Given the description of an element on the screen output the (x, y) to click on. 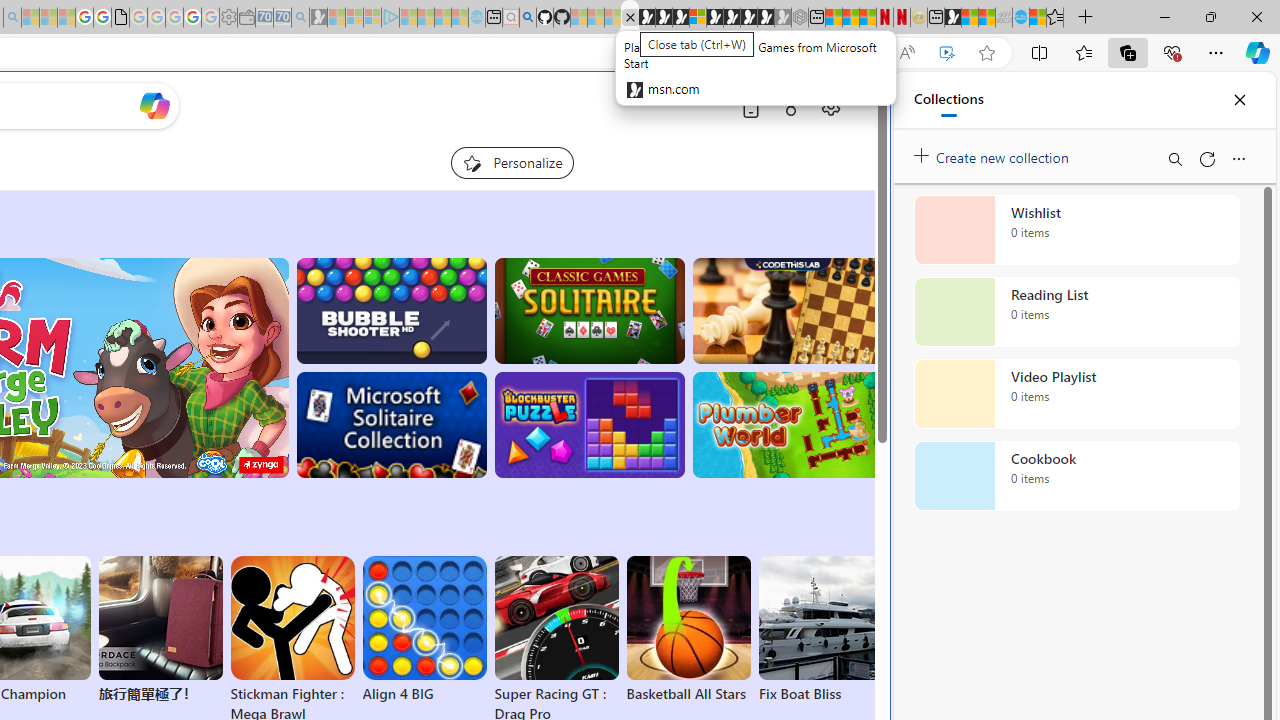
Video Playlist collection, 0 items (1076, 394)
github - Search (527, 17)
